Given the description of an element on the screen output the (x, y) to click on. 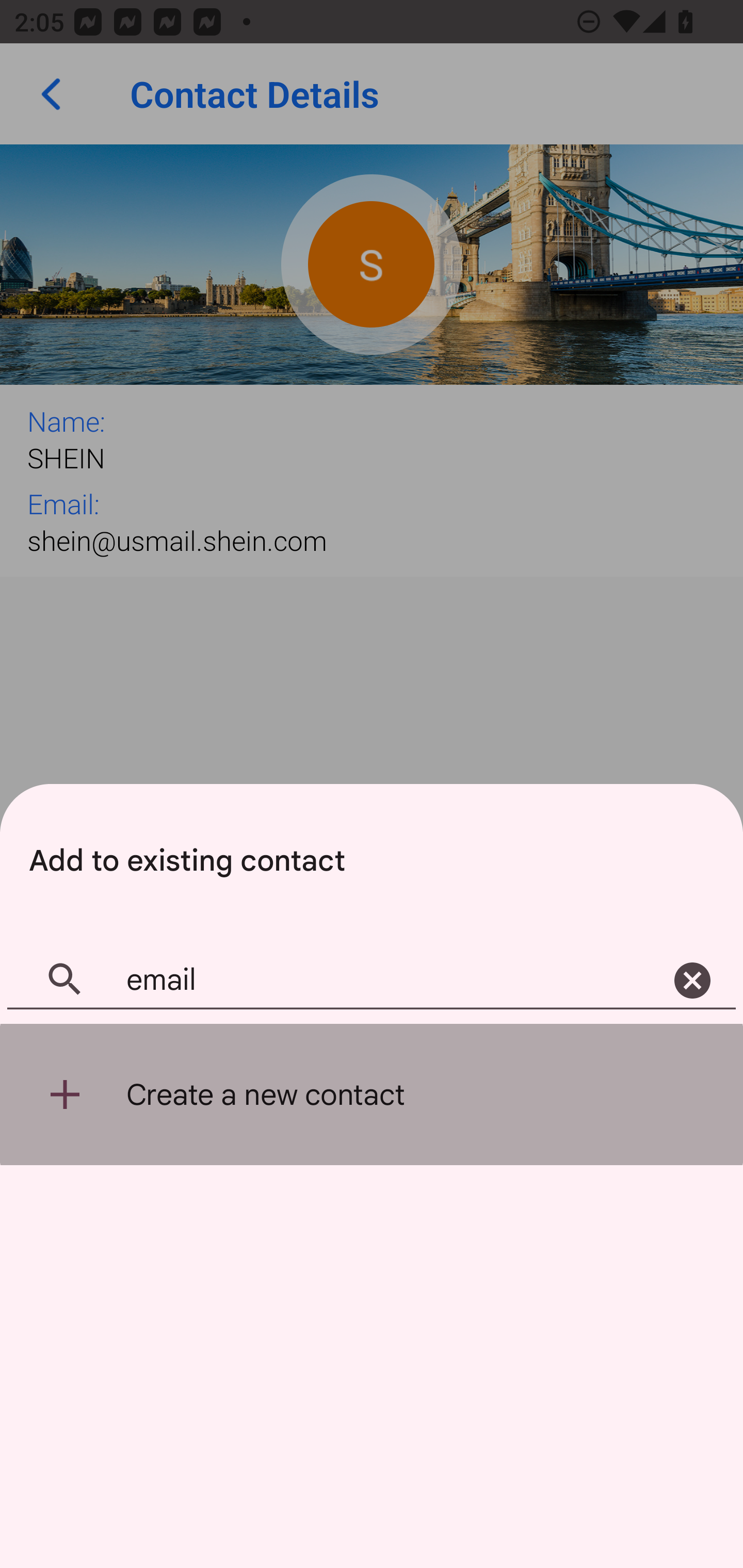
email (371, 980)
Clear search (692, 980)
Create a new contact (371, 1094)
